Given the description of an element on the screen output the (x, y) to click on. 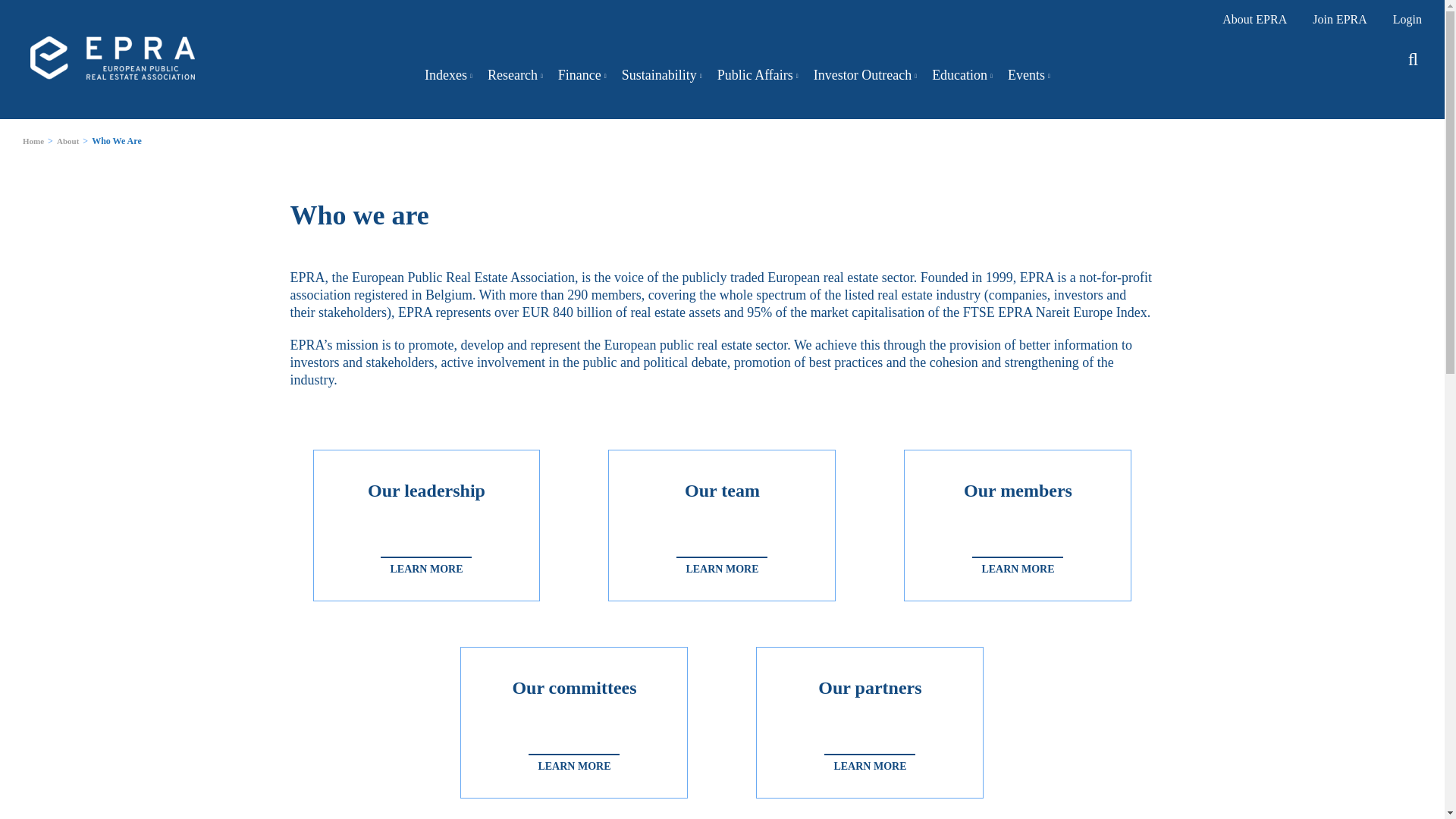
Finance (582, 75)
Research (515, 75)
Indexes (448, 75)
Sustainability (661, 75)
Join EPRA (1339, 19)
EPRA Home (112, 57)
About EPRA (1254, 19)
Login (1407, 19)
